Given the description of an element on the screen output the (x, y) to click on. 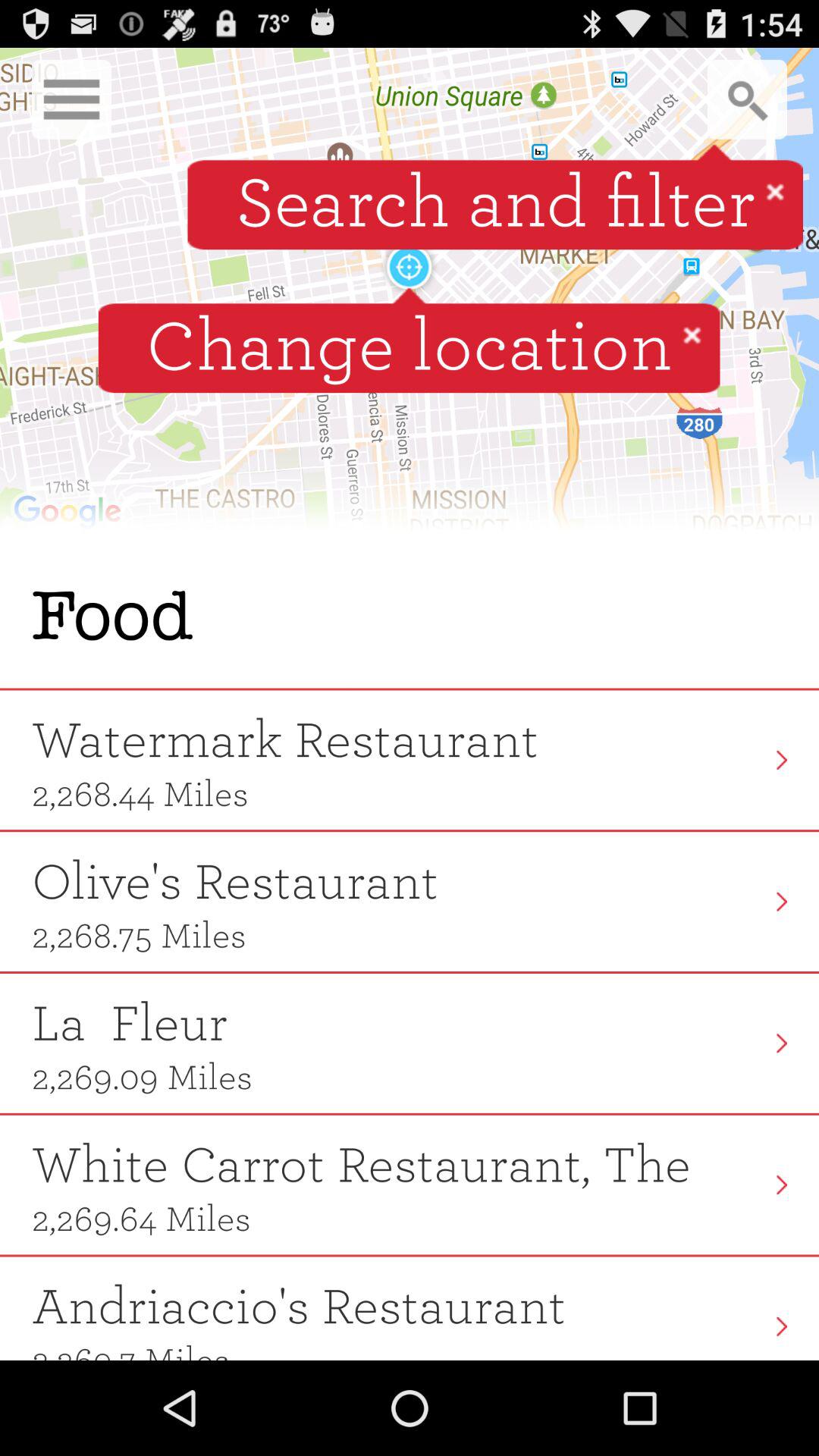
close button (775, 191)
